Given the description of an element on the screen output the (x, y) to click on. 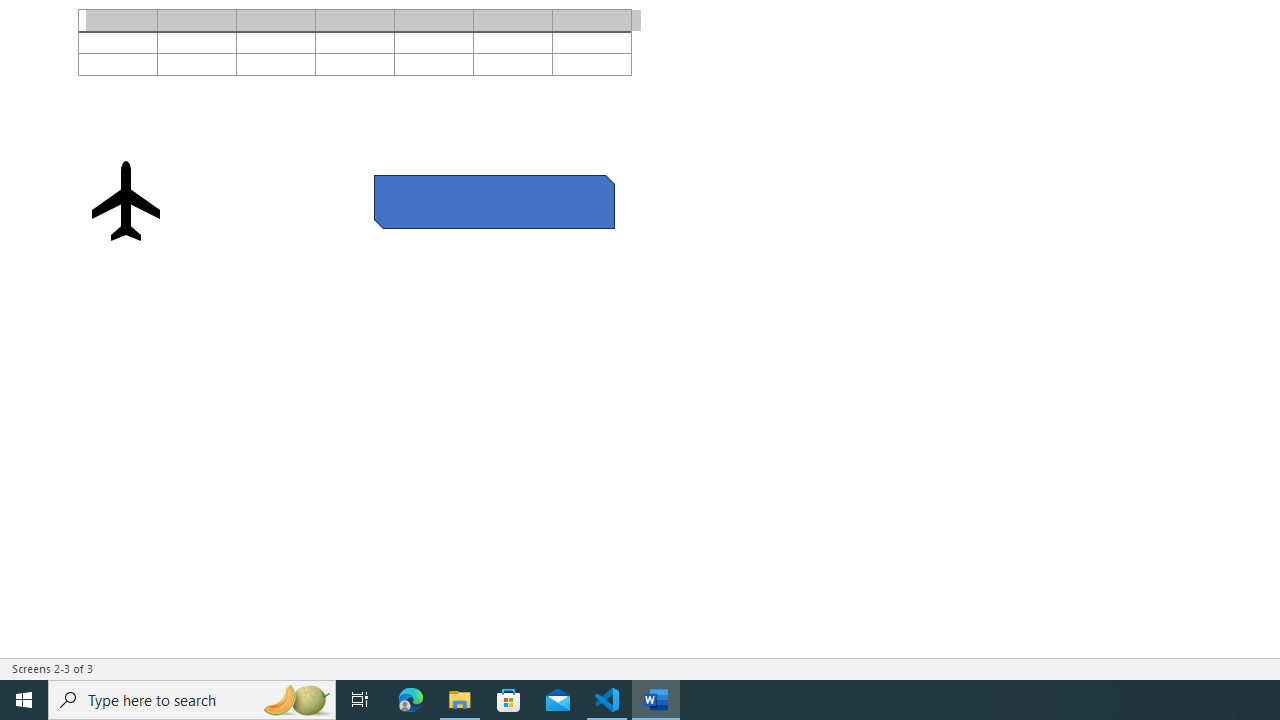
Page Number Screens 2-3 of 3  (52, 668)
Airplane with solid fill (126, 200)
Rectangle: Diagonal Corners Snipped 2 (493, 201)
